Given the description of an element on the screen output the (x, y) to click on. 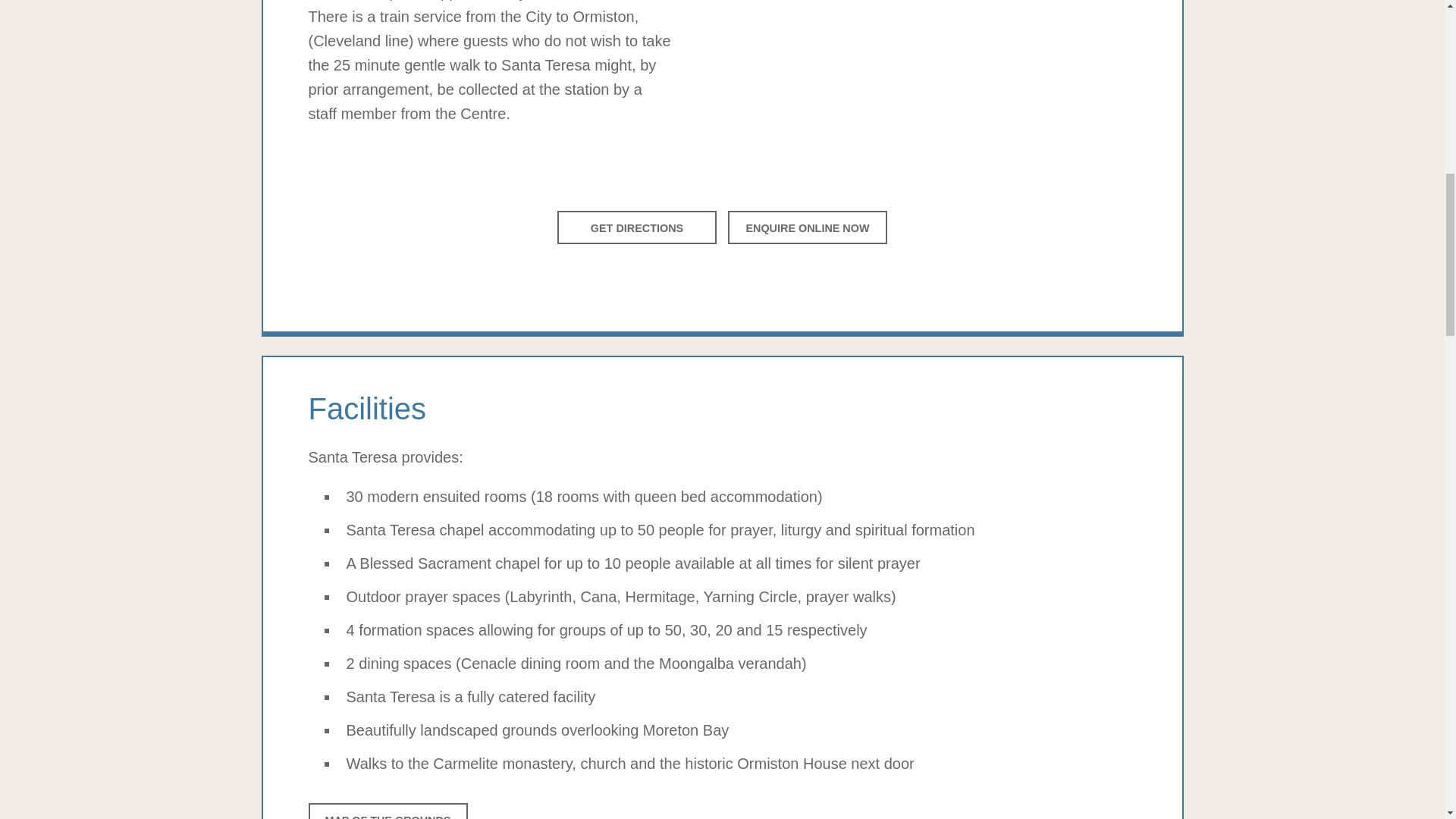
ENQUIRE ONLINE NOW (807, 227)
Facilities (721, 408)
MAP OF THE GROUNDS (387, 811)
GET DIRECTIONS (636, 227)
